Given the description of an element on the screen output the (x, y) to click on. 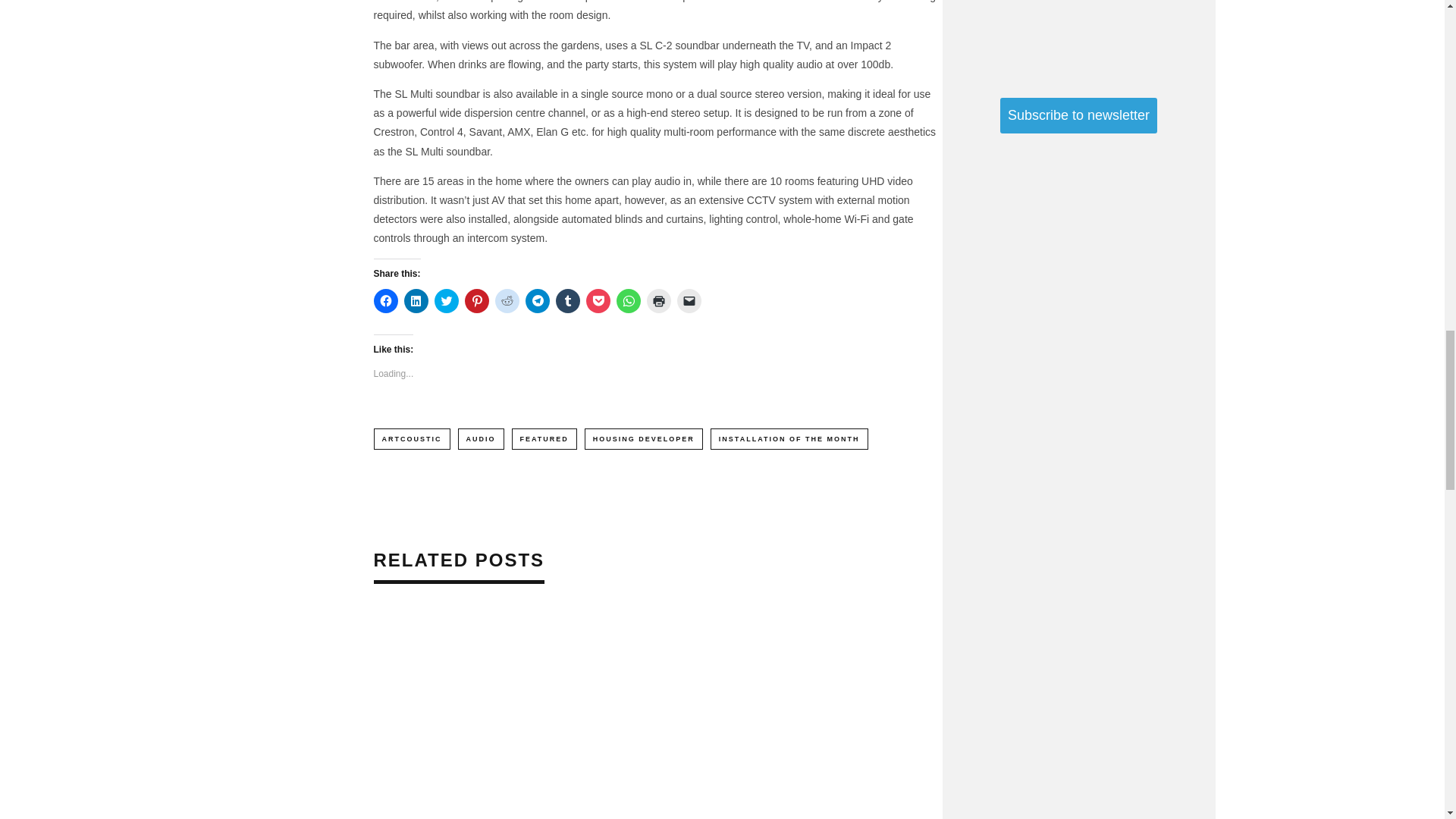
Click to share on Pinterest (475, 300)
Click to share on Reddit (506, 300)
Click to share on Twitter (445, 300)
Click to share on Facebook (384, 300)
Click to share on LinkedIn (415, 300)
Click to share on Telegram (536, 300)
